Given the description of an element on the screen output the (x, y) to click on. 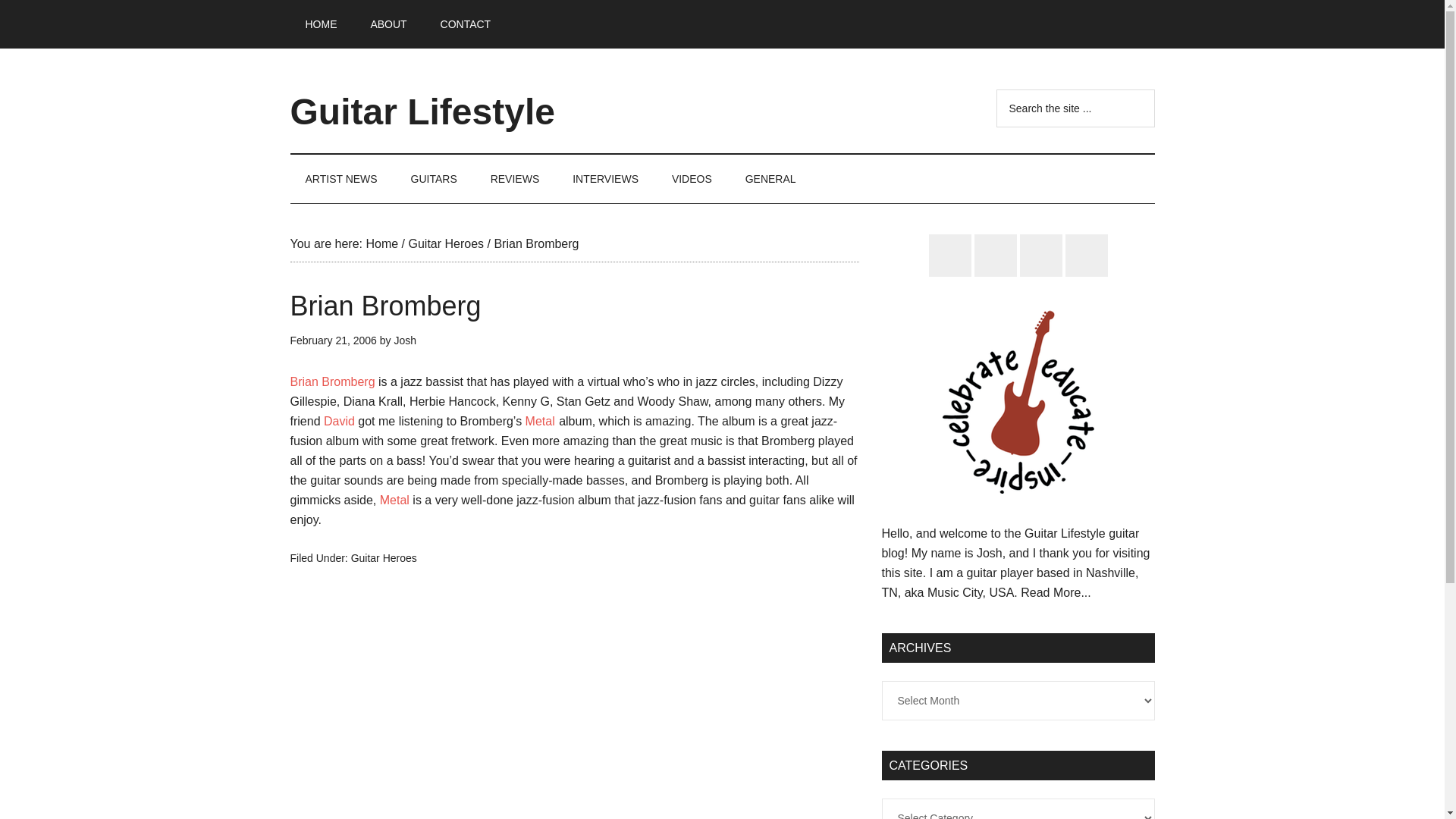
Guitar Heroes (445, 243)
Guitar Lifestyle (421, 111)
Metal (539, 420)
REVIEWS (515, 178)
Guitar Heroes (383, 558)
Home (381, 243)
David's Web site (339, 420)
Read More... (1055, 592)
HOME (320, 24)
Brian Bromberg (331, 381)
Metal (394, 499)
Josh (404, 340)
GUITARS (433, 178)
